Given the description of an element on the screen output the (x, y) to click on. 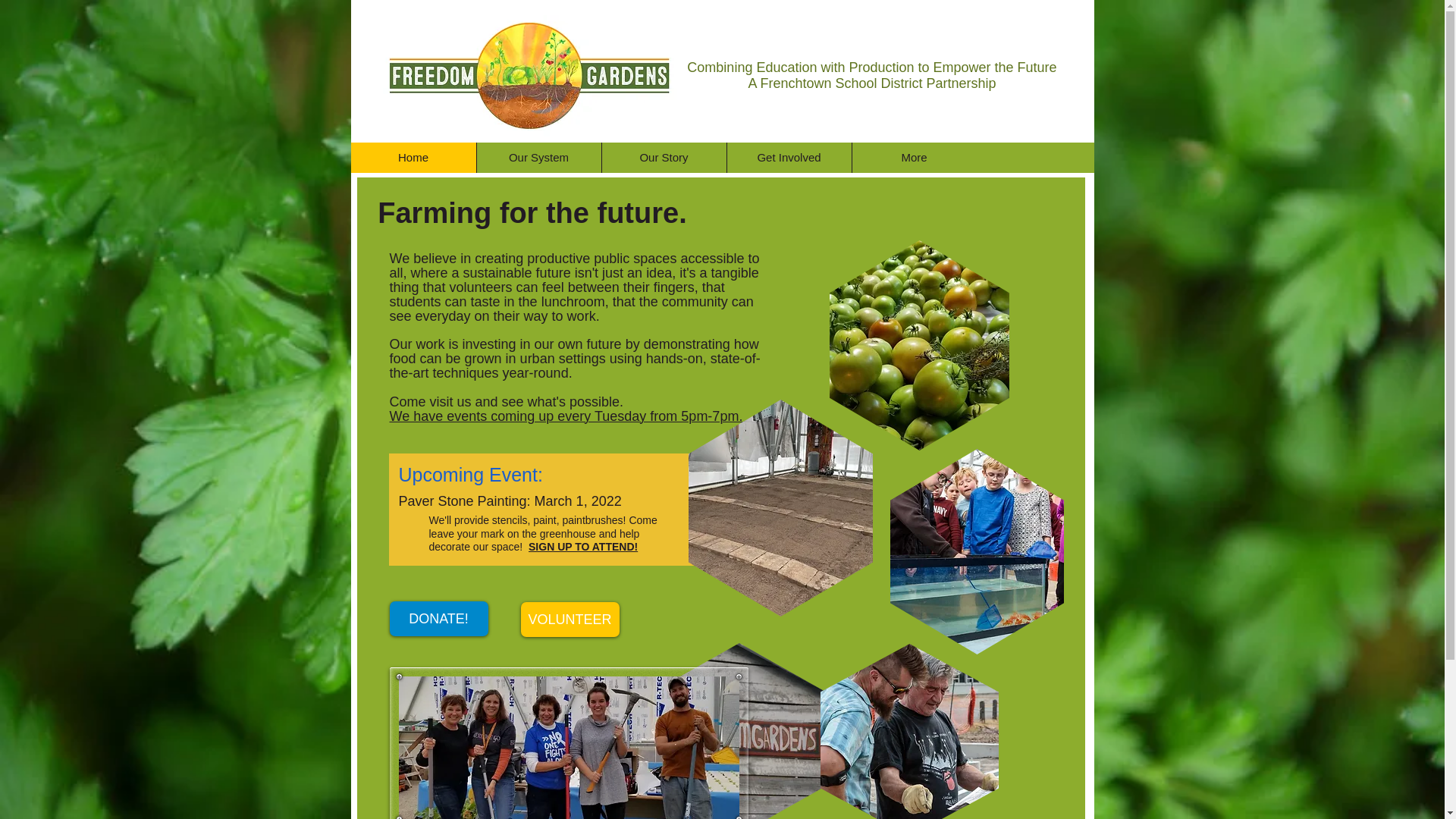
Our System (538, 157)
DONATE! (438, 618)
We have events coming up every Tuesday from 5pm-7pm. (566, 417)
SIGN UP TO ATTEND! (582, 546)
VOLUNTEER (568, 619)
Get Involved (788, 157)
Our Story (662, 157)
Home (413, 157)
